Given the description of an element on the screen output the (x, y) to click on. 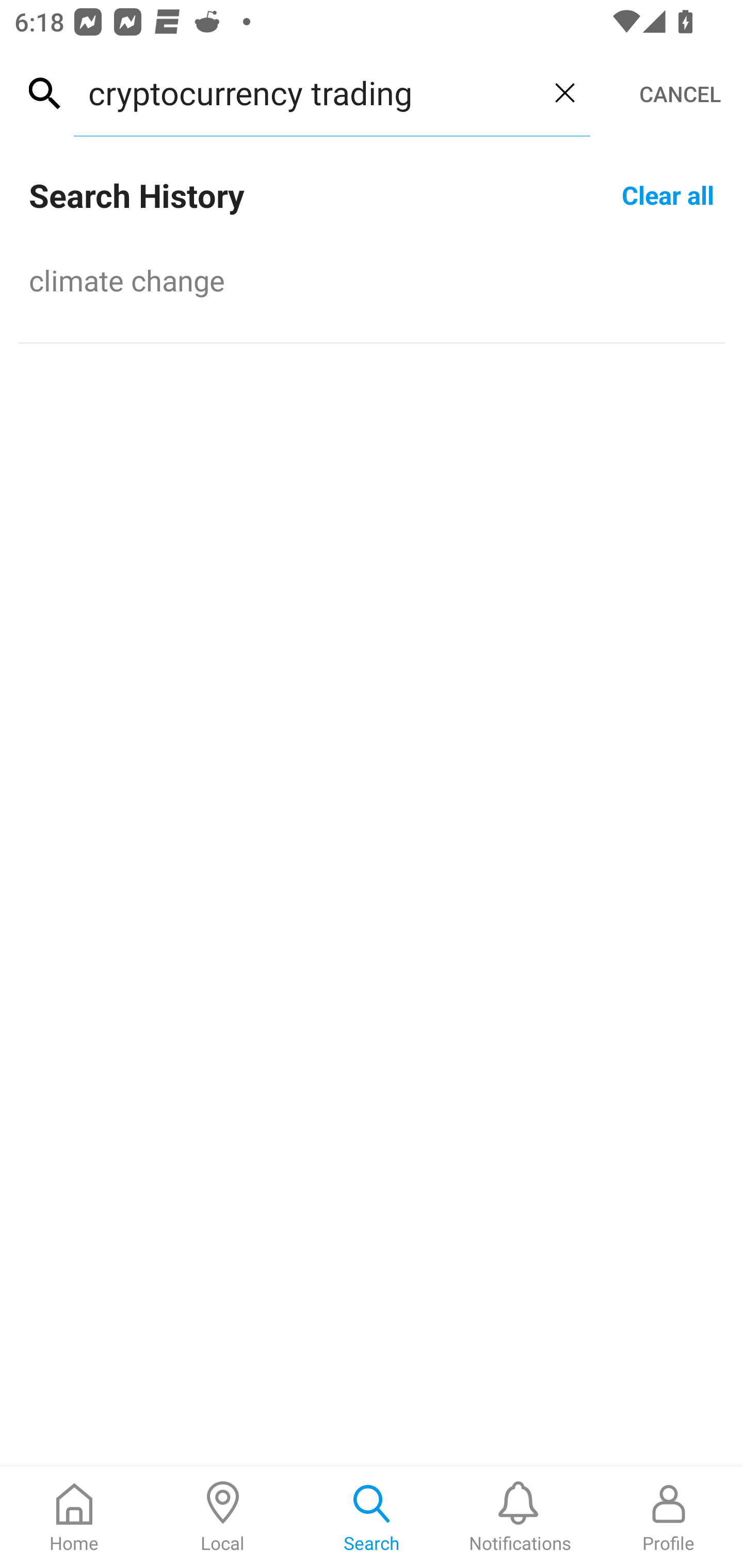
Clear query (564, 92)
CANCEL (680, 93)
cryptocurrency trading (306, 92)
Clear all (667, 194)
climate change (371, 279)
Home (74, 1517)
Local (222, 1517)
Notifications (519, 1517)
Profile (668, 1517)
